Given the description of an element on the screen output the (x, y) to click on. 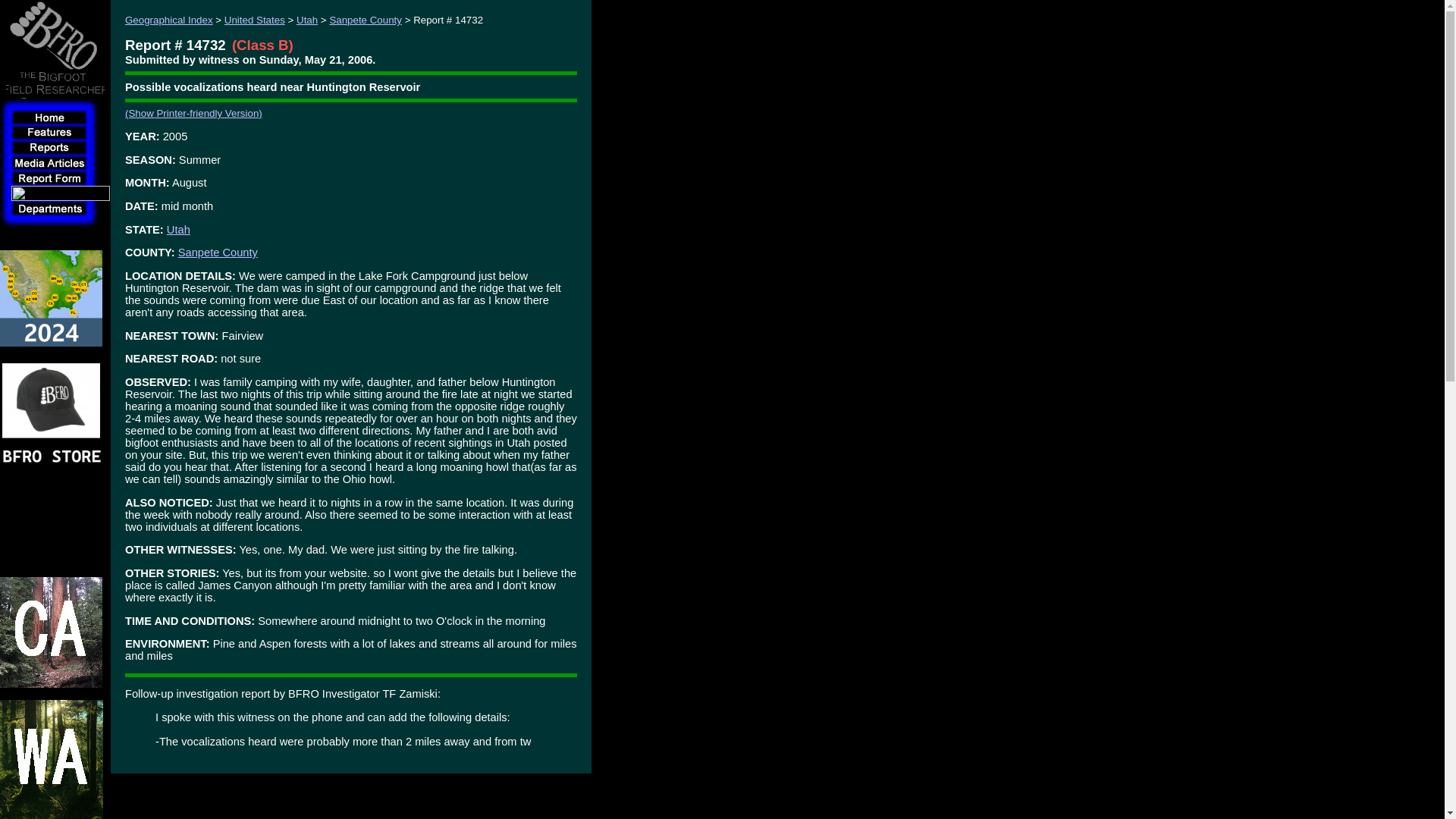
United States (254, 19)
Utah (178, 229)
Geographical Index (168, 19)
Sanpete County (217, 252)
Utah (307, 19)
Sanpete County (365, 19)
